Given the description of an element on the screen output the (x, y) to click on. 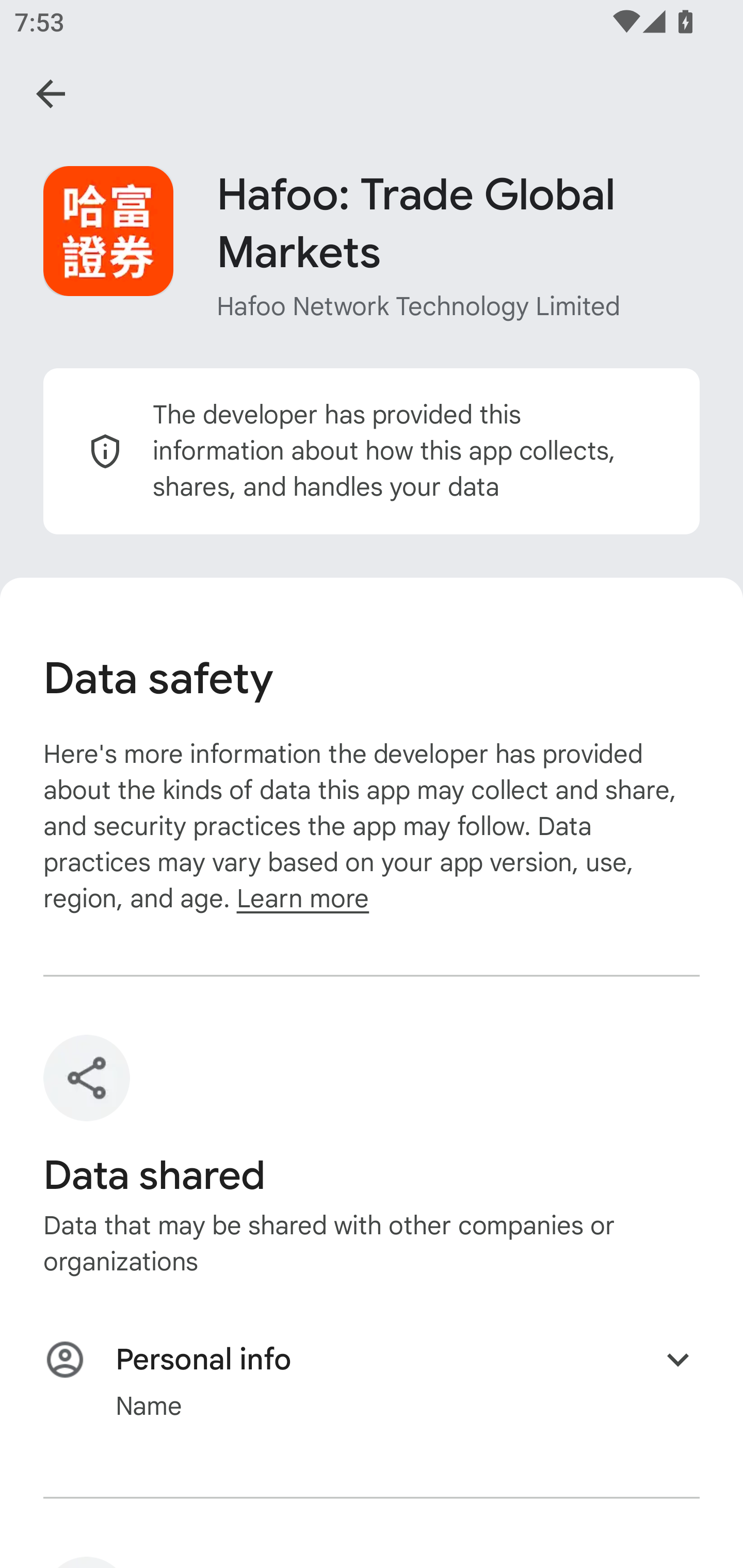
Navigate up (50, 93)
heading Personal info Name Expand button (371, 1381)
